Given the description of an element on the screen output the (x, y) to click on. 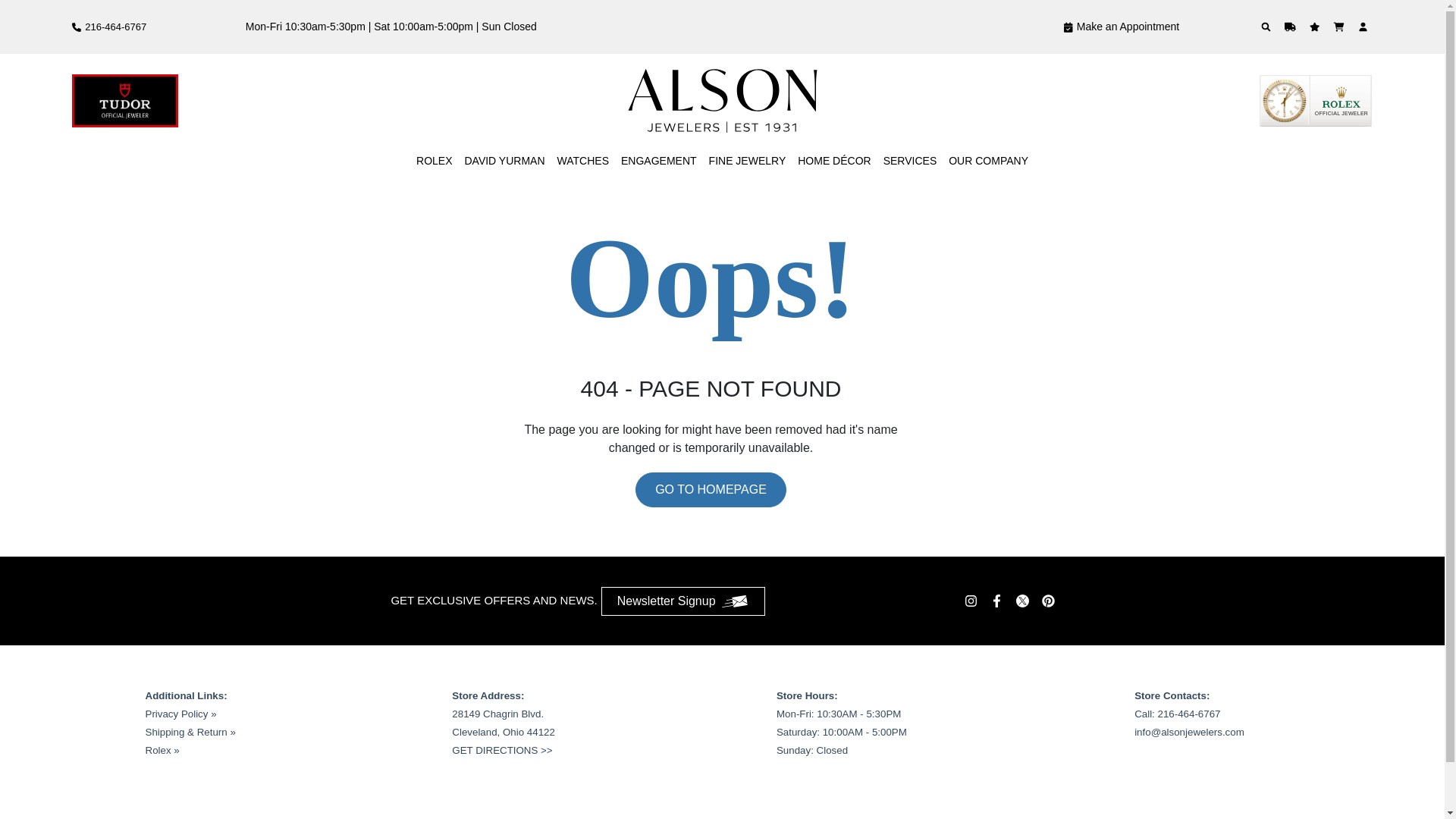
Make an Appointment (1120, 26)
Rolex (433, 161)
WATCHES (582, 161)
216-464-6767 (109, 27)
Rolex (1316, 100)
ENGAGEMENT (659, 161)
DAVID YURMAN (504, 161)
Make an Appointment (1120, 26)
Track Order (1292, 26)
ROLEX (433, 161)
